Given the description of an element on the screen output the (x, y) to click on. 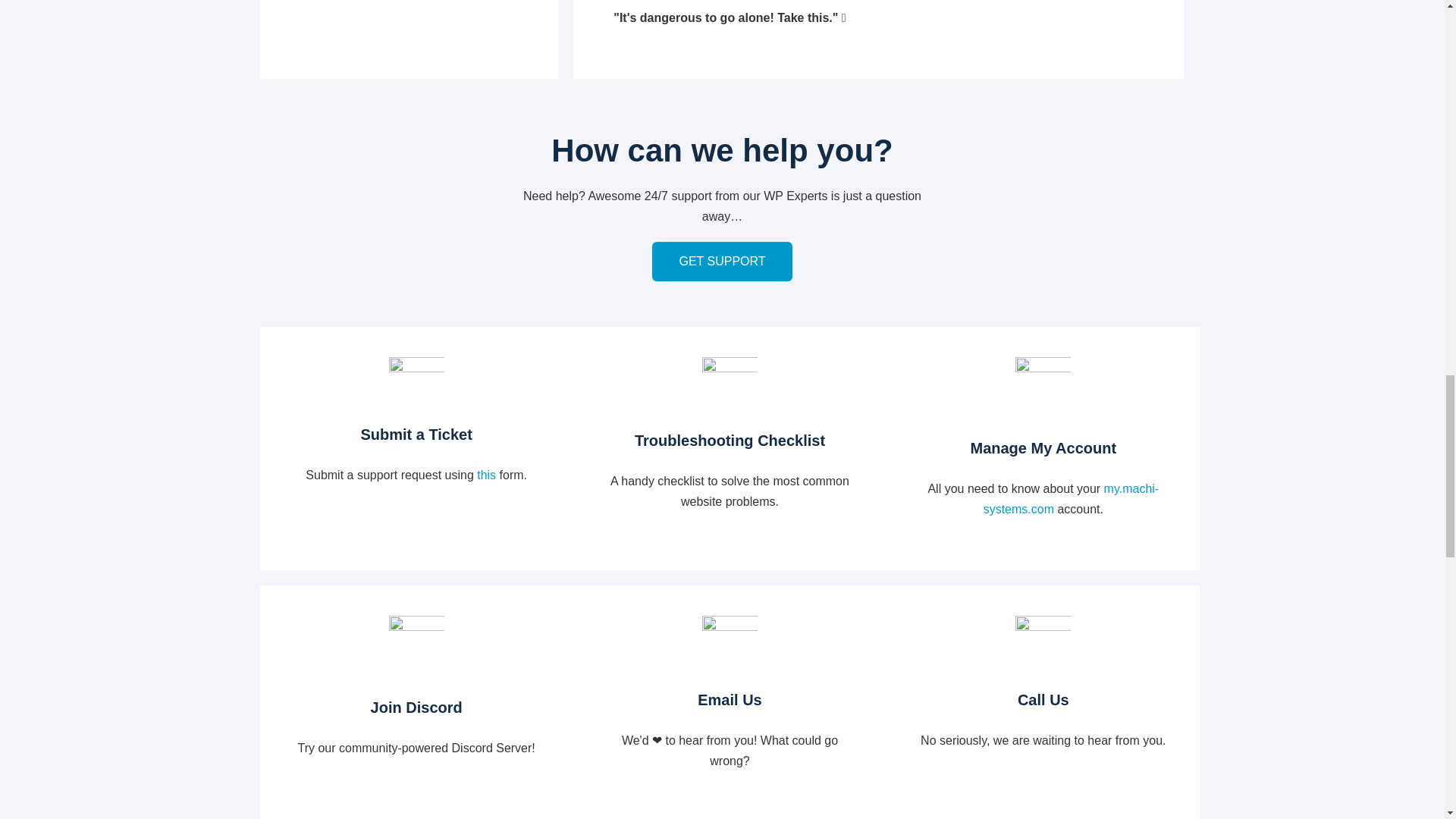
my.machi-systems.com (1071, 498)
Submit a Ticket (415, 434)
GET SUPPORT (722, 261)
Manage My Account (1043, 447)
this (486, 474)
Join Discord (415, 707)
Troubleshooting Checklist (730, 440)
